Given the description of an element on the screen output the (x, y) to click on. 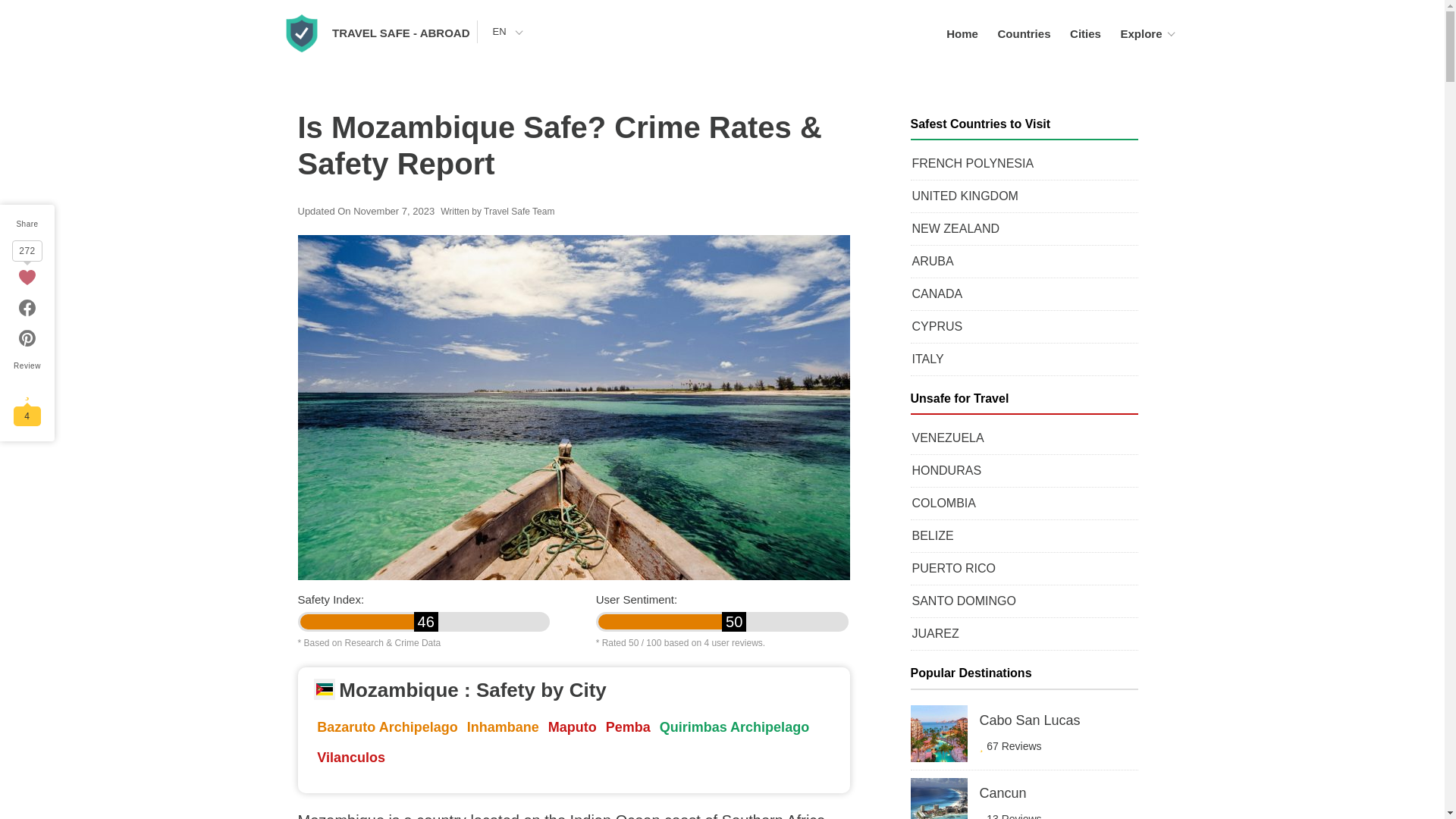
Inhambane (502, 727)
Pemba Safety Review (627, 727)
Quirimbas Archipelago Safety Review (734, 727)
Inhambane Safety Review (502, 727)
Pemba (627, 727)
Maputo Safety Review (571, 727)
Quirimbas Archipelago (734, 727)
Explore (1140, 33)
Vilanculos Safety Review (351, 757)
Home (962, 33)
Bazaruto Archipelago (387, 727)
Vilanculos (351, 757)
Maputo (571, 727)
Bazaruto Archipelago Safety Review (387, 727)
